Given the description of an element on the screen output the (x, y) to click on. 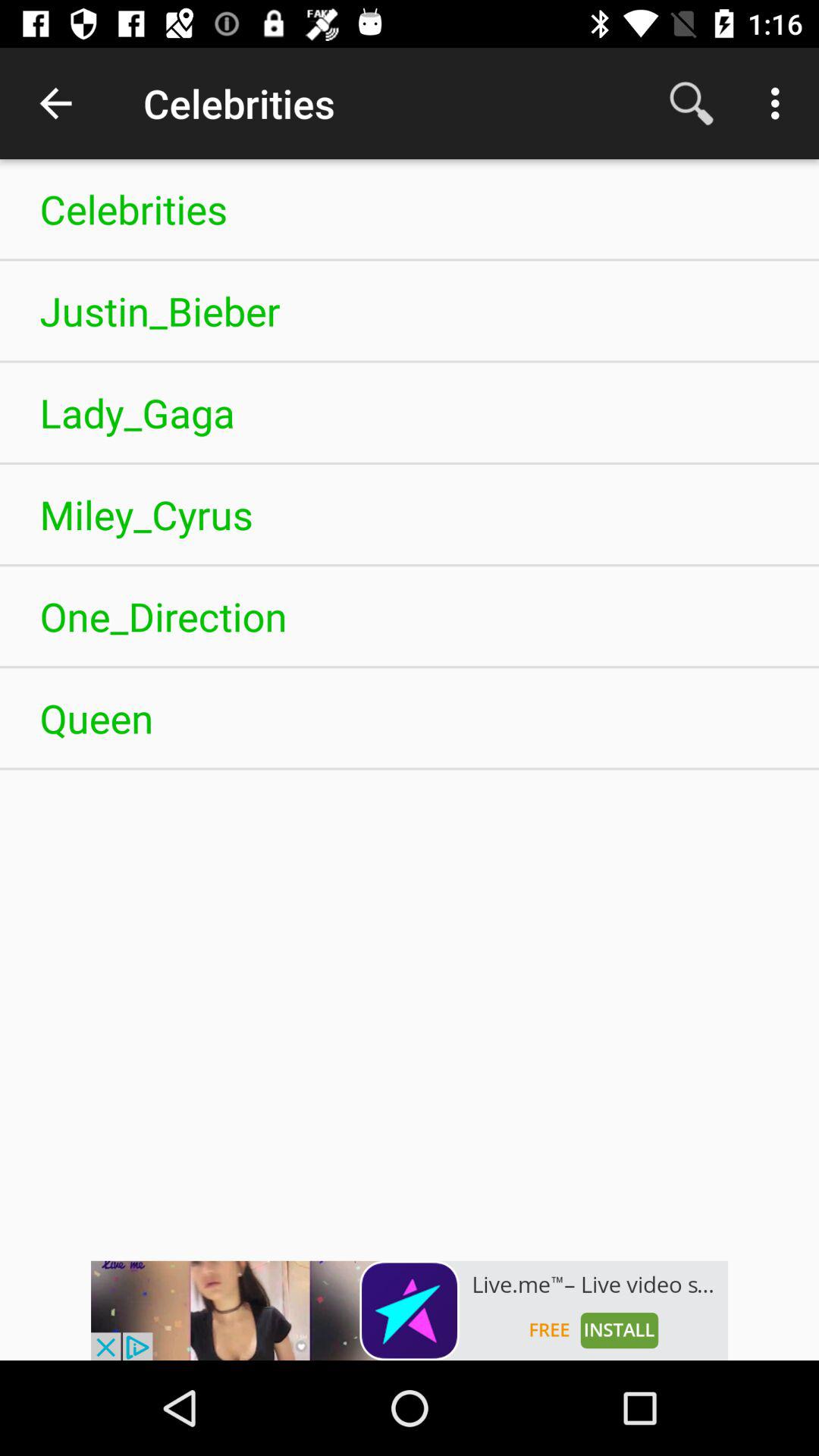
opens up advertisement (409, 1310)
